Given the description of an element on the screen output the (x, y) to click on. 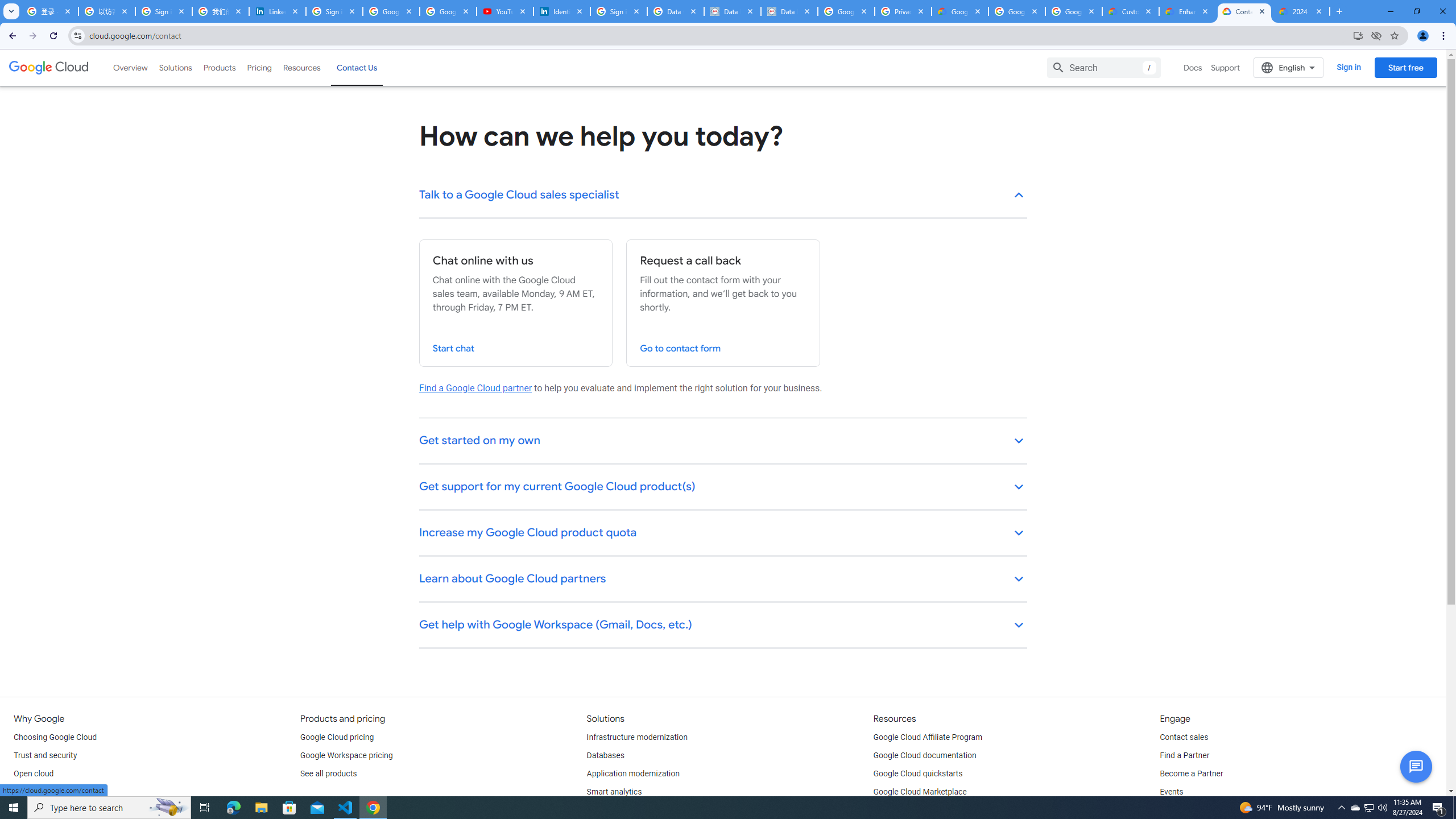
Google Cloud quickstarts (917, 773)
Learn about Google Cloud partners keyboard_arrow_down (723, 579)
Sign in - Google Accounts (163, 11)
See all products (327, 773)
Support (1225, 67)
Google Cloud Terms Directory | Google Cloud (959, 11)
Find a Partner (1183, 755)
